Given the description of an element on the screen output the (x, y) to click on. 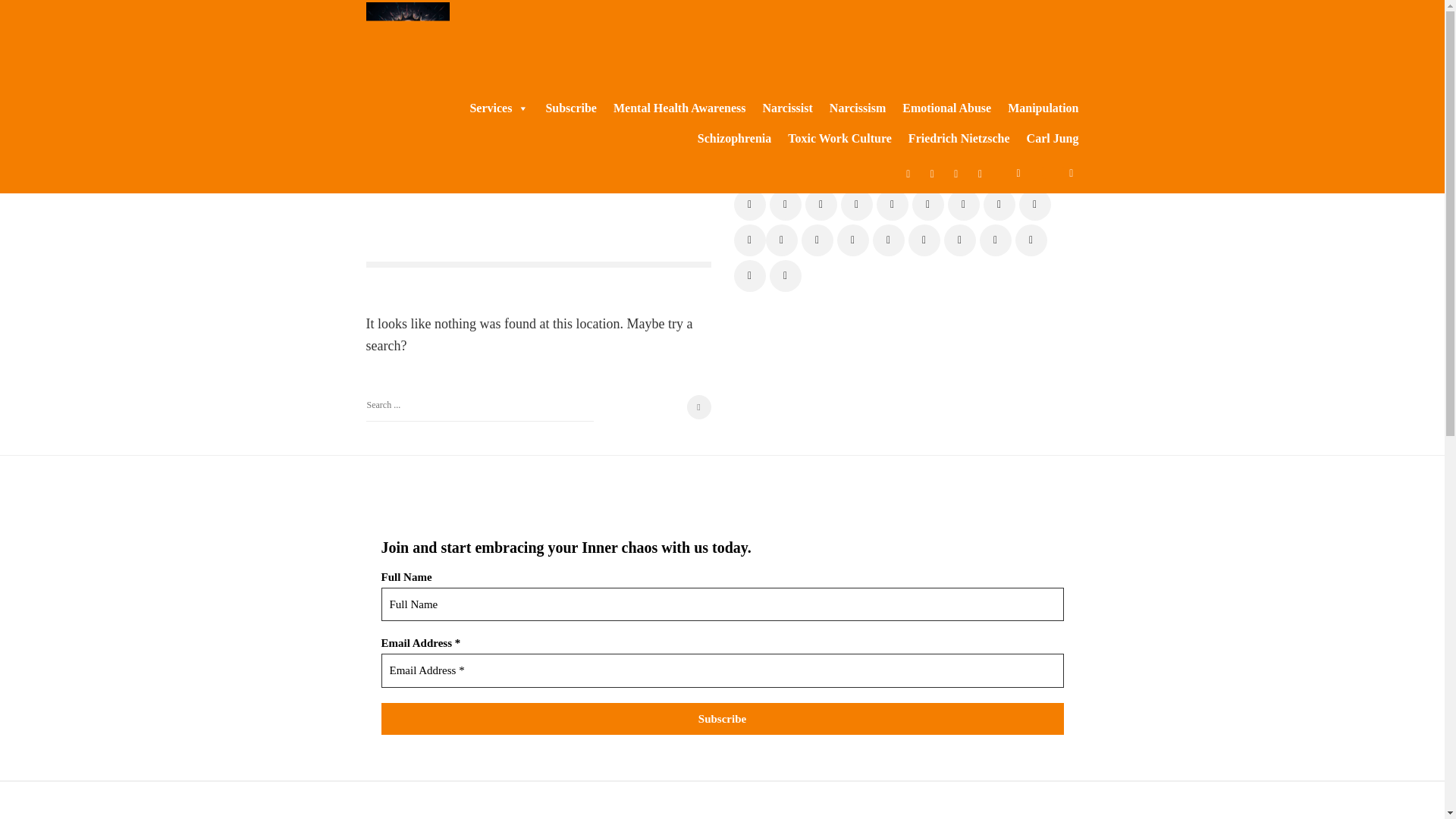
Toxic Work Culture (831, 138)
Vimeo (998, 204)
Dribbble (892, 204)
Behance (856, 204)
Subscribe (562, 108)
Friedrich Nietzsche (950, 138)
Mental Health Awareness (670, 108)
Search for: (478, 407)
Linked In (927, 204)
Narcissist (778, 108)
